Given the description of an element on the screen output the (x, y) to click on. 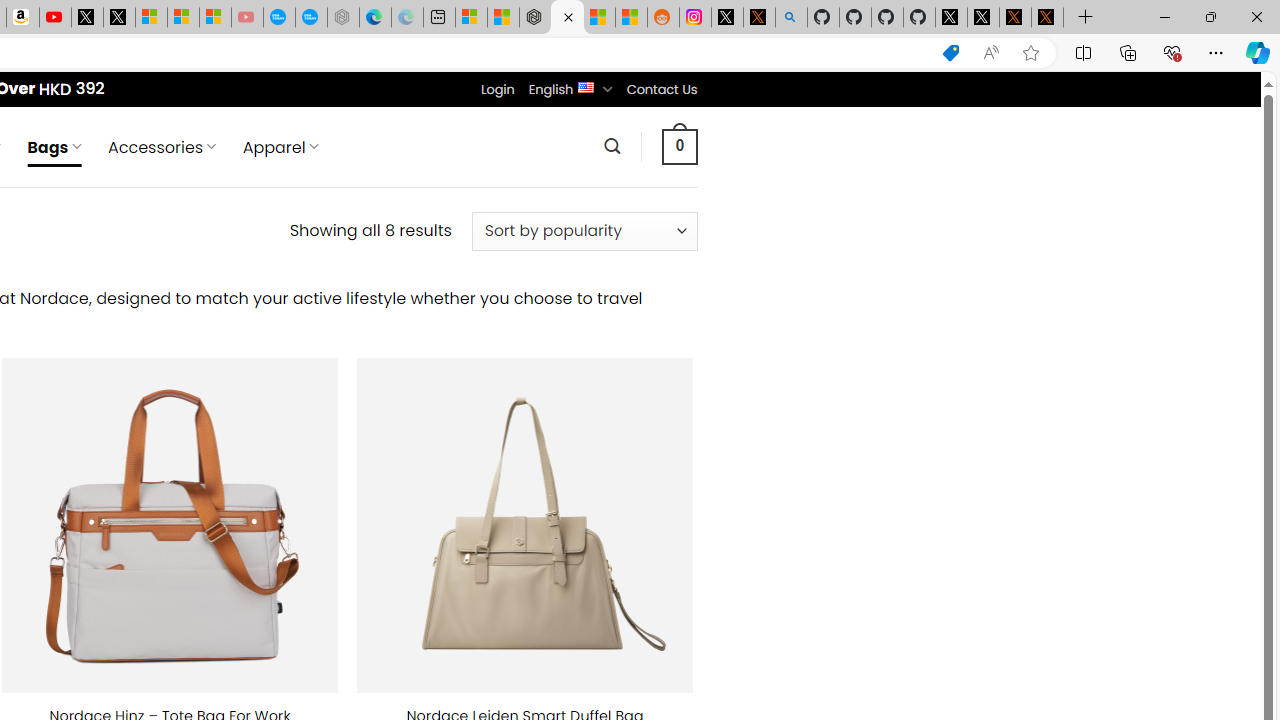
Log in to X / X (727, 17)
Day 1: Arriving in Yemen (surreal to be here) - YouTube (54, 17)
 0  (679, 146)
This site has coupons! Shopping in Microsoft Edge (950, 53)
GitHub (@github) / X (983, 17)
